Given the description of an element on the screen output the (x, y) to click on. 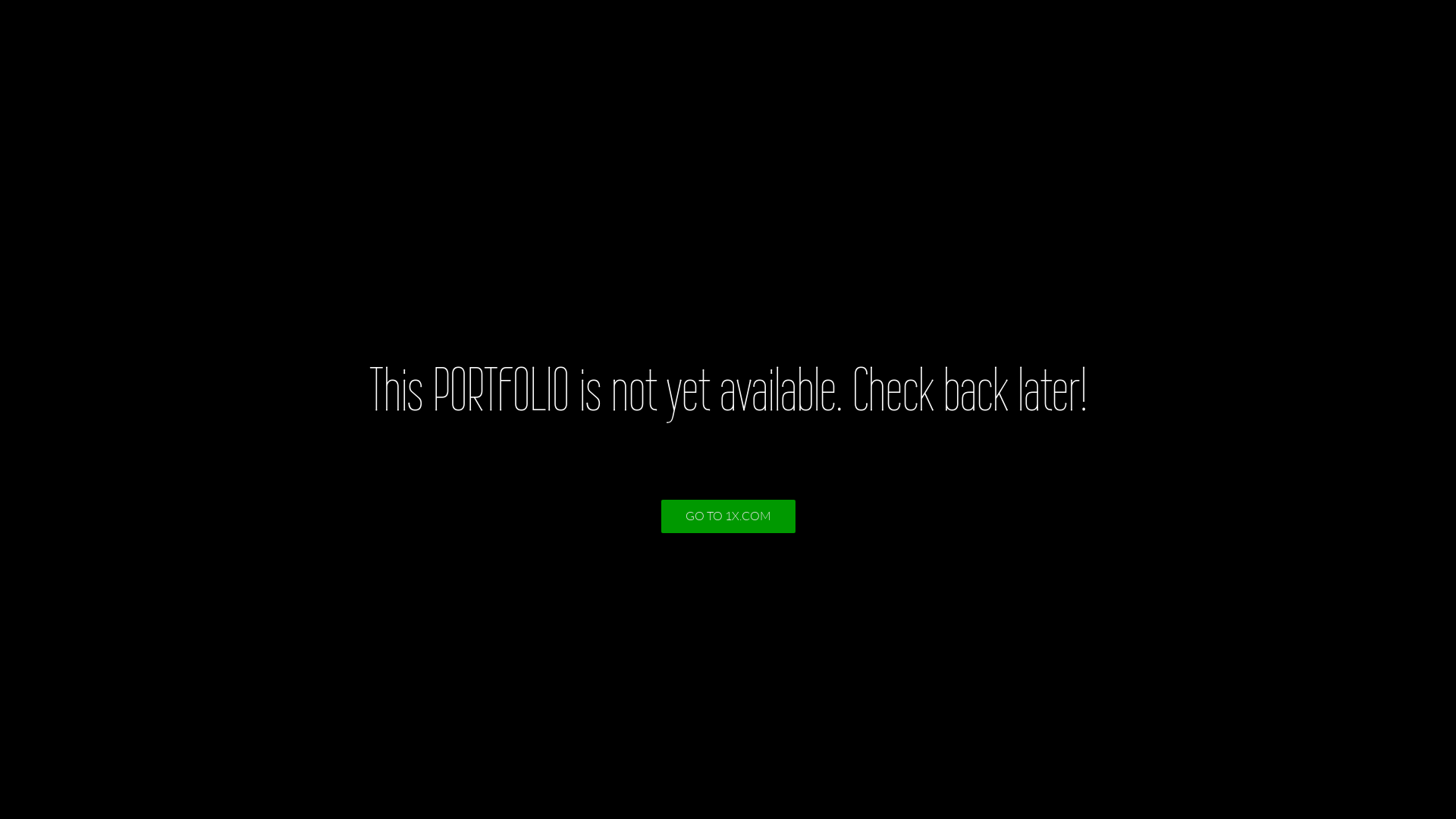
GO TO 1X.COM Element type: text (728, 516)
